Given the description of an element on the screen output the (x, y) to click on. 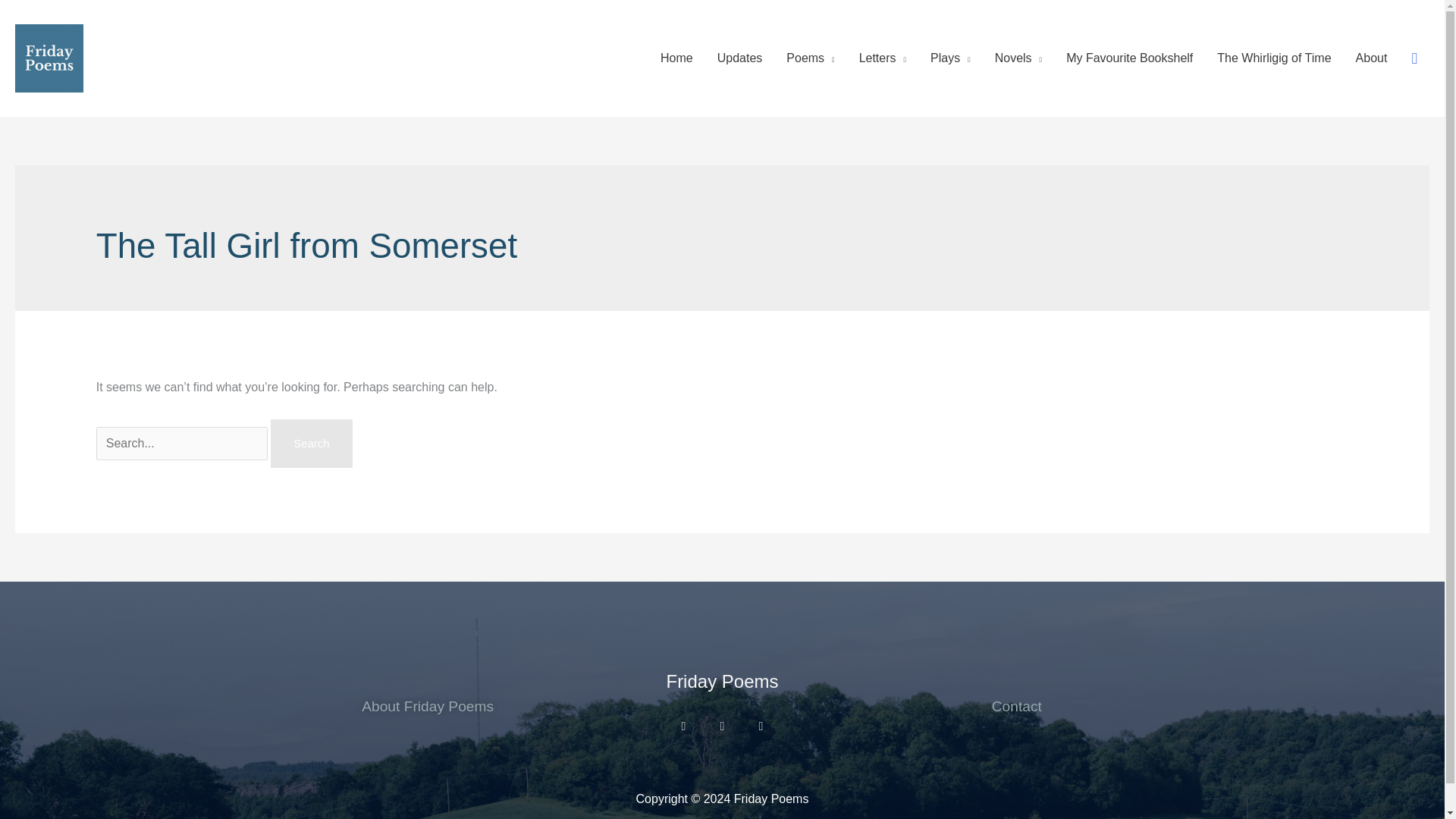
Search (311, 443)
About (1371, 58)
About Friday Poems (427, 706)
My Favourite Bookshelf (1129, 58)
Updates (739, 58)
Instagram (683, 726)
Twitter (721, 726)
Search (311, 443)
Friday Poems (721, 680)
Plays (950, 58)
